Given the description of an element on the screen output the (x, y) to click on. 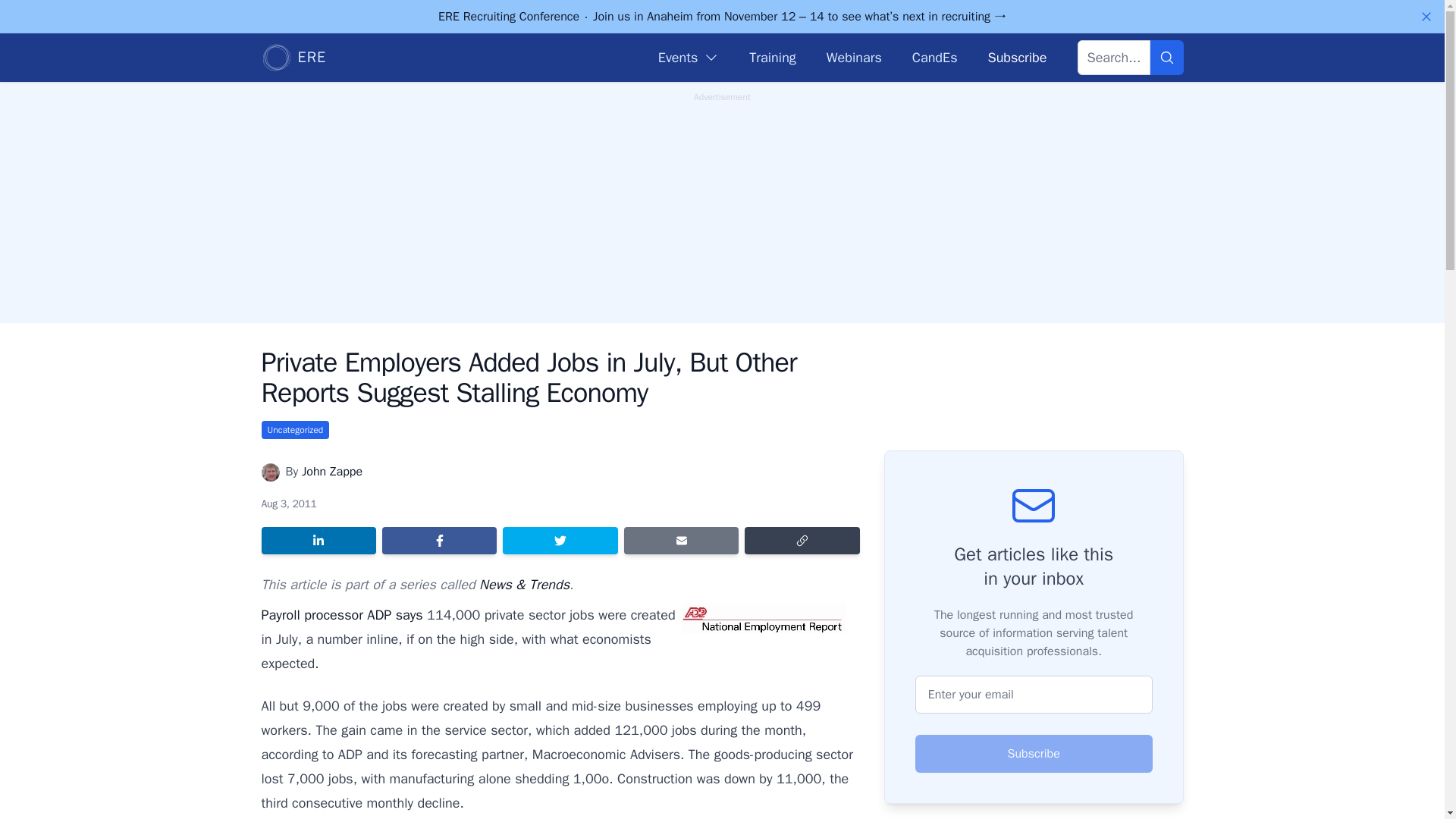
Subscribe (1034, 753)
Payroll processor ADP says (341, 614)
Uncategorized (294, 429)
Subscribe (1016, 56)
Webinars (854, 56)
ADP Employment report (763, 617)
John Zappe (331, 471)
CandEs (935, 56)
Dismiss (1425, 16)
ERE (293, 57)
Events (688, 56)
Training (771, 56)
